Given the description of an element on the screen output the (x, y) to click on. 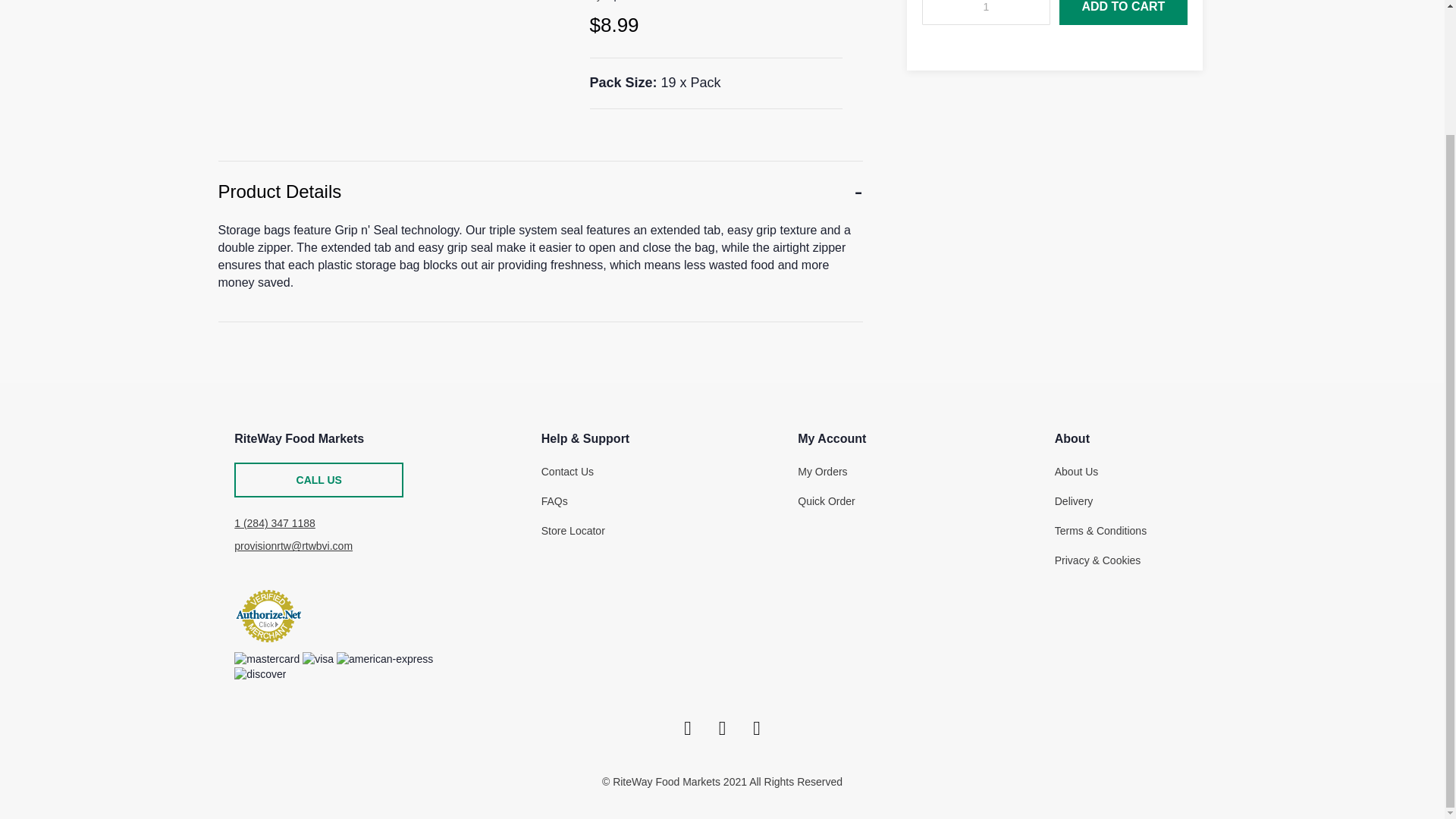
1 (985, 12)
Add to Cart (1123, 12)
Qty (985, 12)
